Given the description of an element on the screen output the (x, y) to click on. 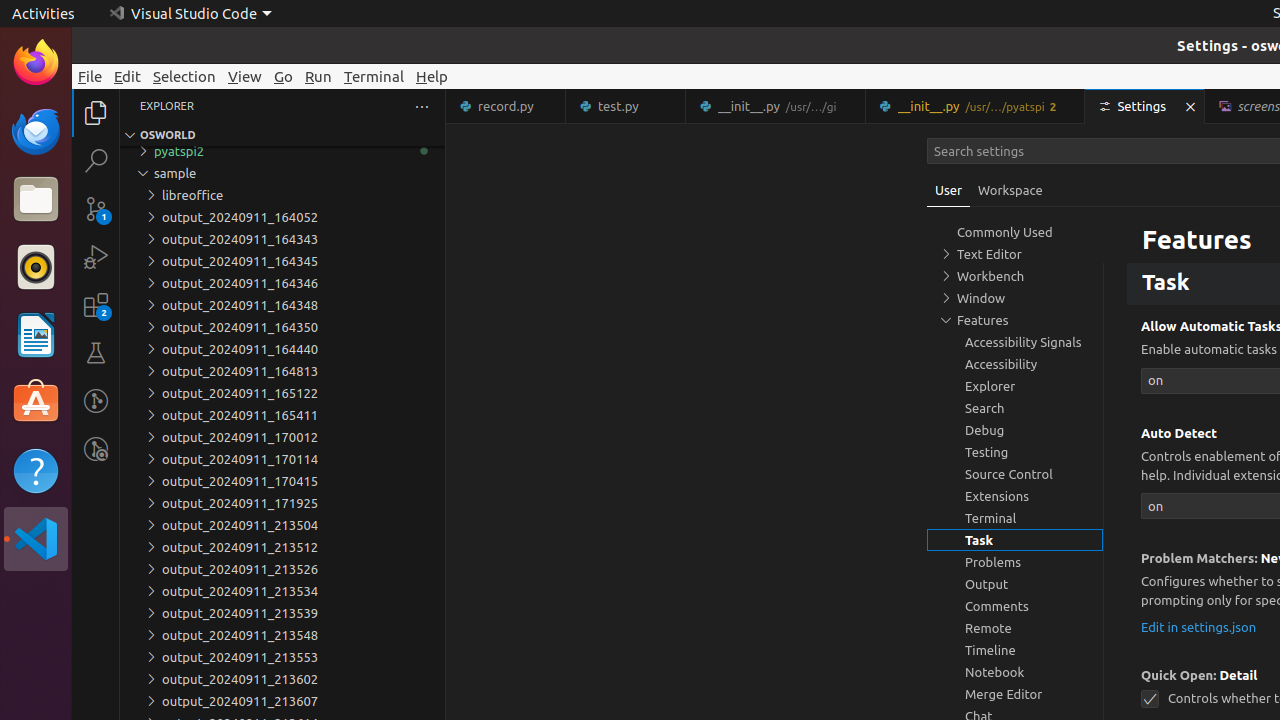
Go Element type: push-button (283, 76)
Merge Editor, group Element type: tree-item (1015, 694)
Explorer (Ctrl+Shift+E) Element type: page-tab (96, 113)
Terminal, group Element type: tree-item (1015, 518)
Explorer Section: osworld Element type: push-button (282, 135)
